Given the description of an element on the screen output the (x, y) to click on. 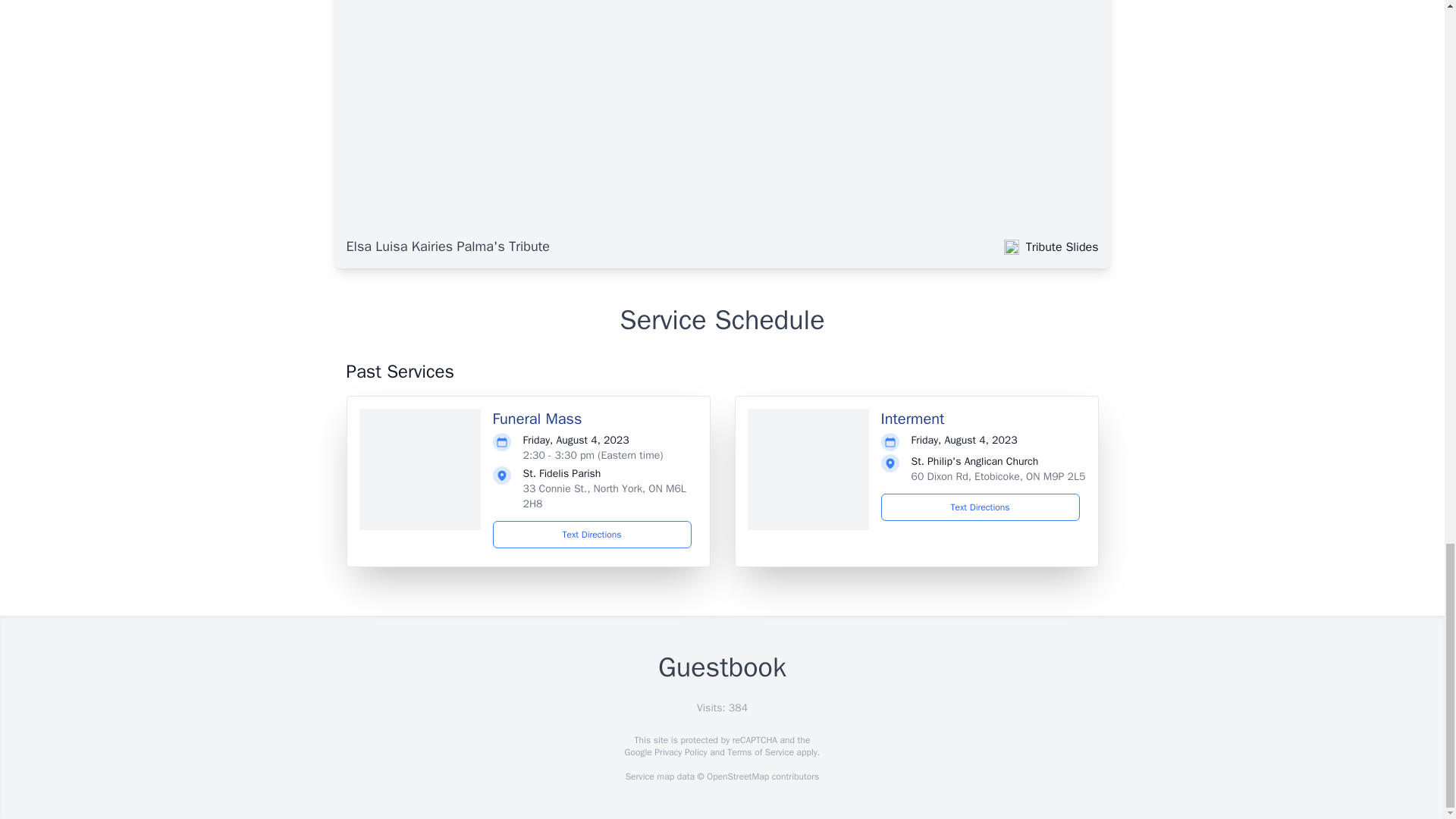
OpenStreetMap (737, 776)
Text Directions (980, 506)
60 Dixon Rd, Etobicoke, ON M9P 2L5 (998, 476)
Terms of Service (759, 752)
Text Directions (592, 533)
33 Connie St., North York, ON M6L 2H8 (603, 496)
Privacy Policy (679, 752)
